Given the description of an element on the screen output the (x, y) to click on. 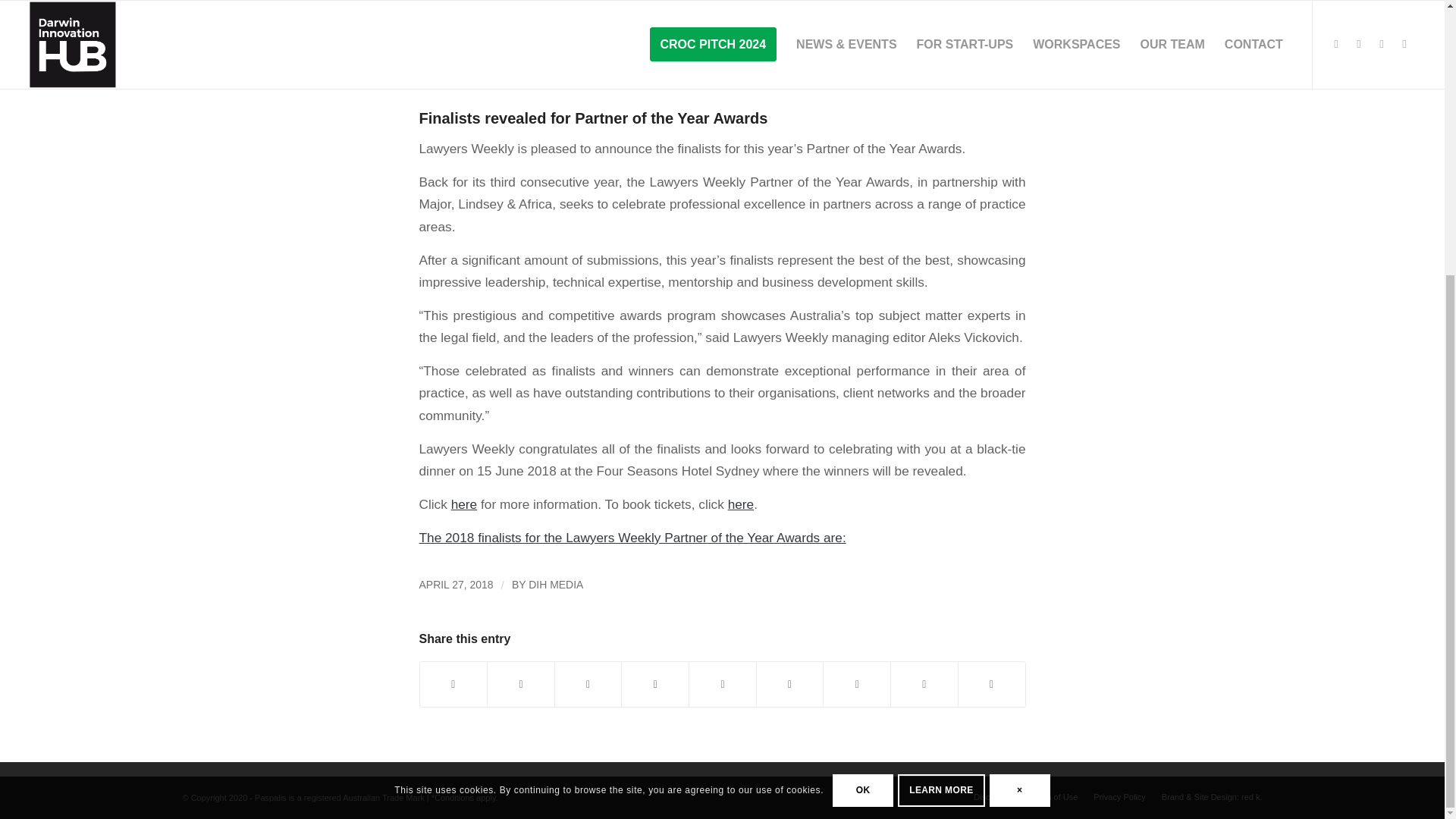
DIH MEDIA (555, 584)
anne o'donoghue (722, 29)
here (464, 503)
Posts by DIH Media (555, 584)
here (741, 503)
